Given the description of an element on the screen output the (x, y) to click on. 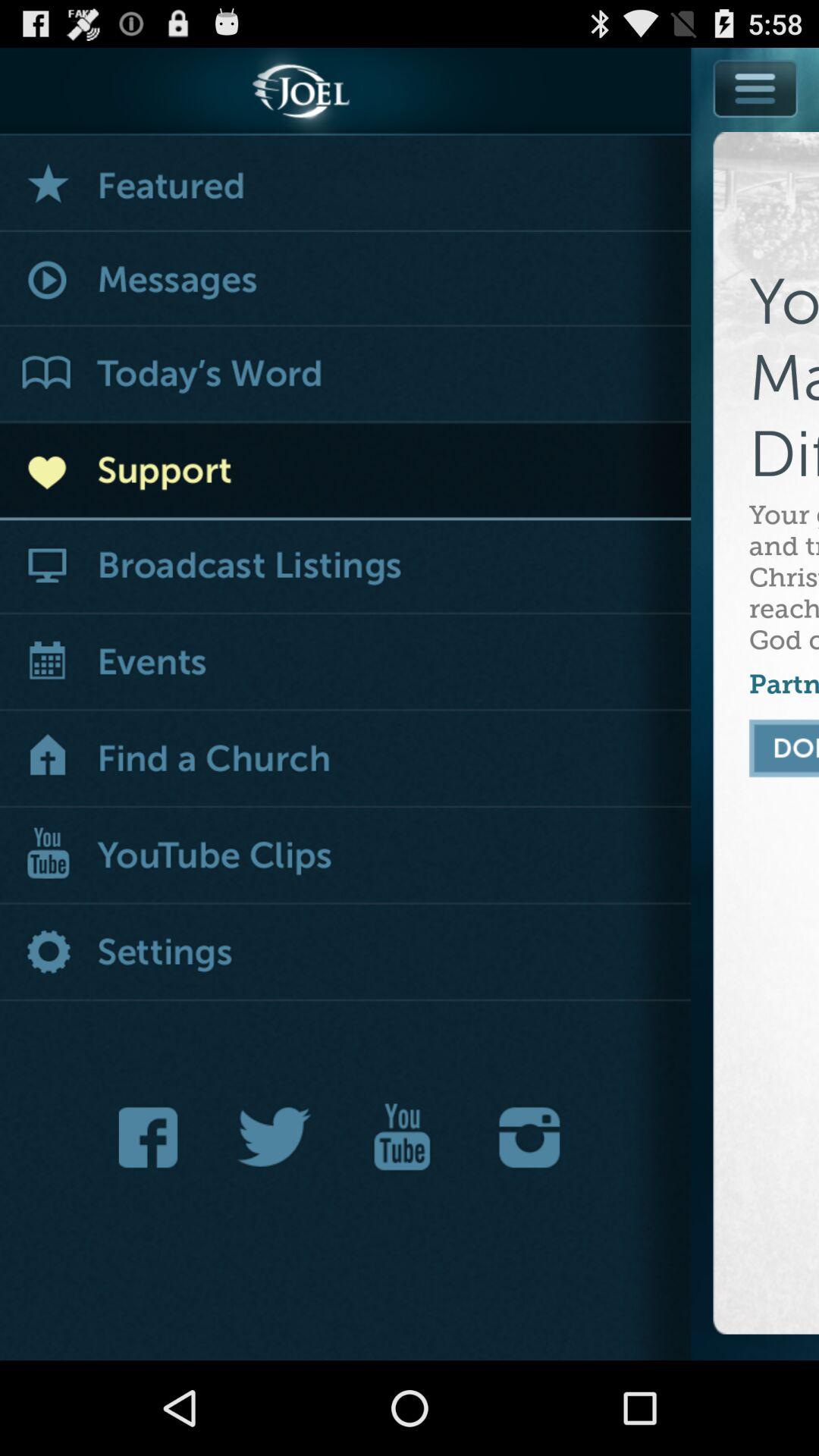
go to facebook option (152, 1137)
